Given the description of an element on the screen output the (x, y) to click on. 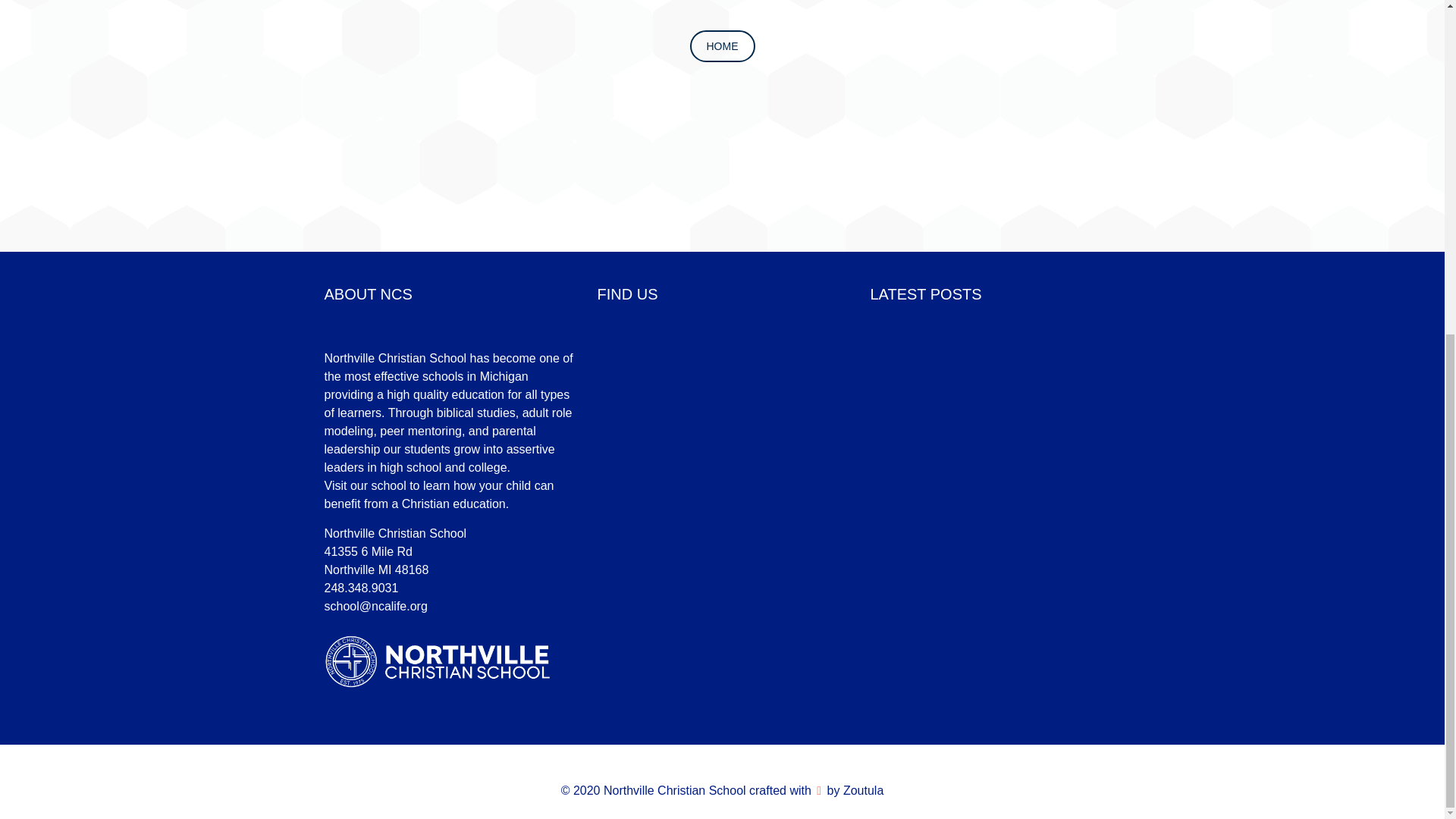
HOME (722, 46)
